Given the description of an element on the screen output the (x, y) to click on. 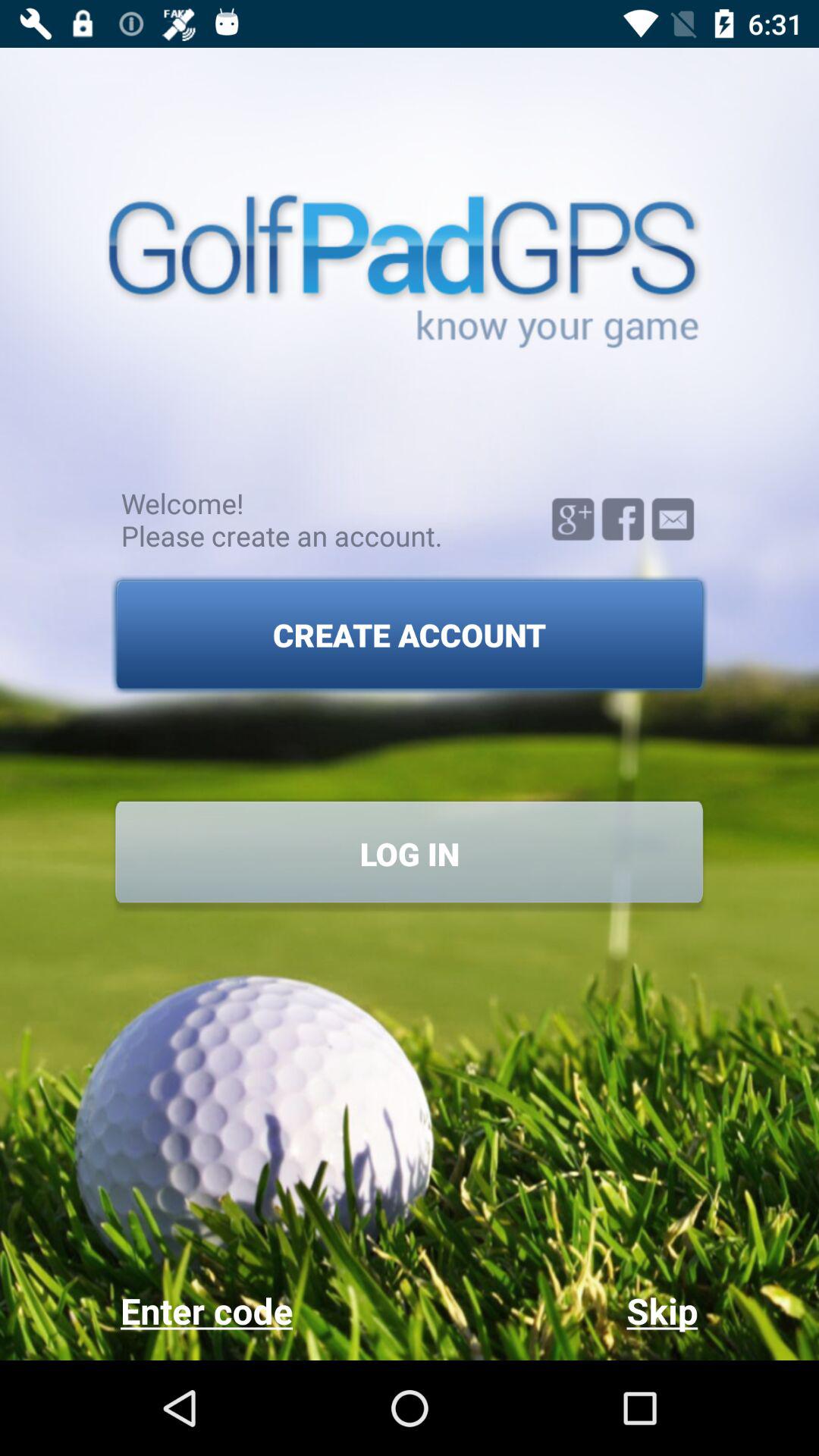
tap enter code icon (264, 1310)
